Given the description of an element on the screen output the (x, y) to click on. 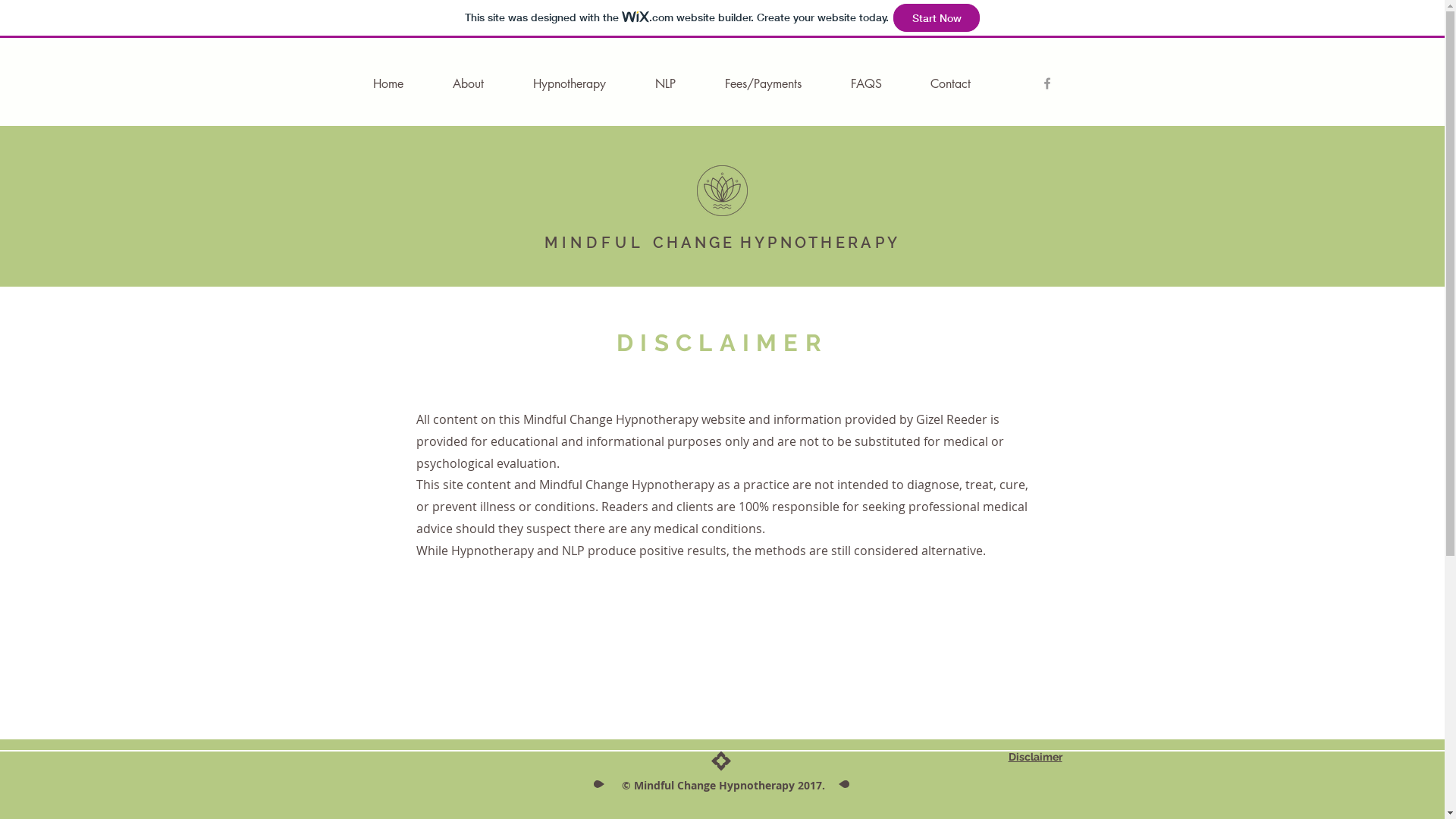
  Element type: text (648, 242)
CHANGE Element type: text (693, 242)
MINDFUL Element type: text (594, 242)
FAQS Element type: text (882, 83)
Contact Element type: text (966, 83)
Disclaimer Element type: text (1035, 756)
Fees/Payments Element type: text (780, 83)
NLP Element type: text (682, 83)
HYPNOTHERAPY Element type: text (820, 240)
About Element type: text (484, 83)
Home Element type: text (405, 83)
